Given the description of an element on the screen output the (x, y) to click on. 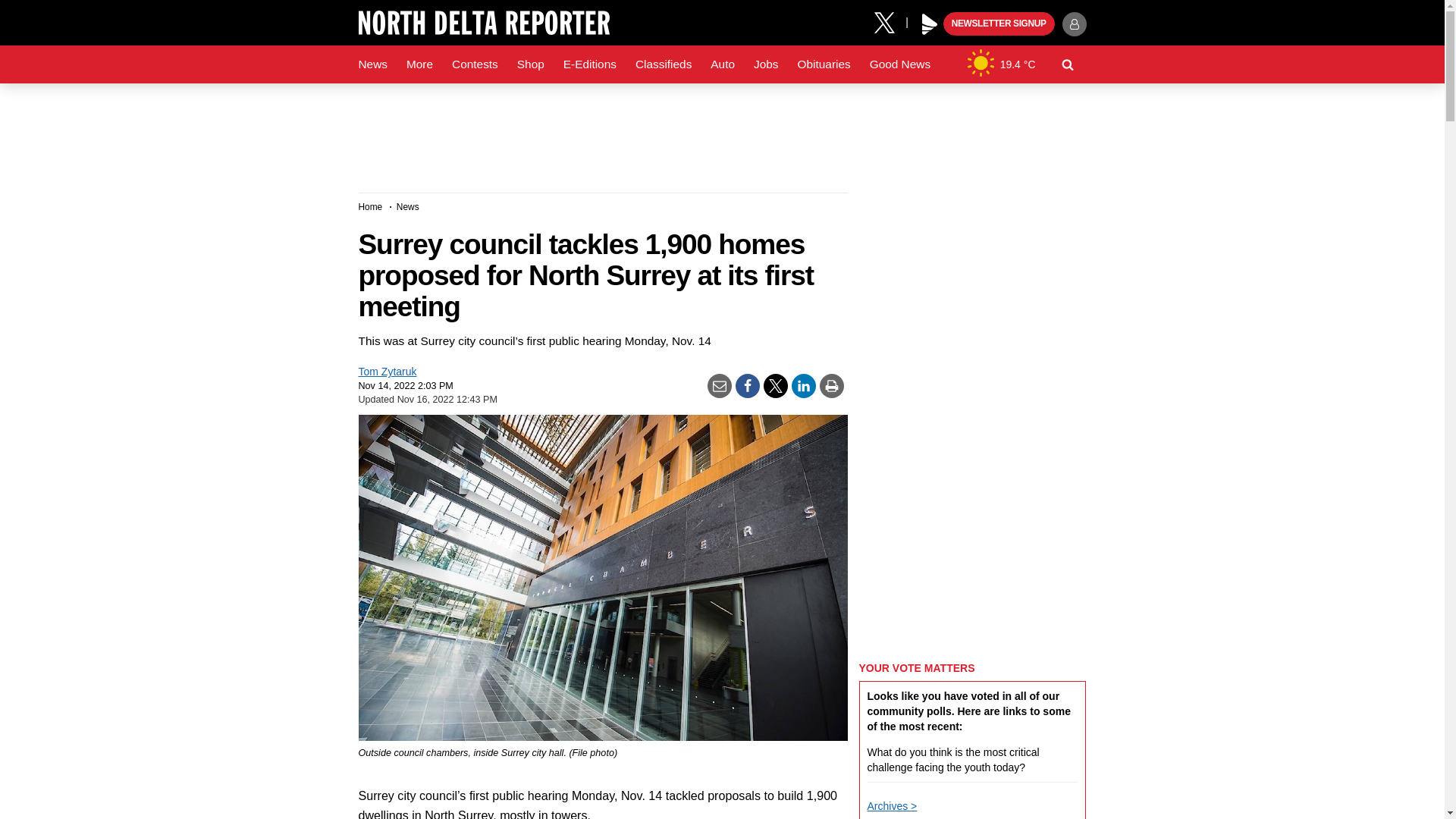
3rd party ad content (721, 131)
NEWSLETTER SIGNUP (998, 24)
Play (929, 24)
News (372, 64)
Black Press Media (929, 24)
X (889, 21)
